Given the description of an element on the screen output the (x, y) to click on. 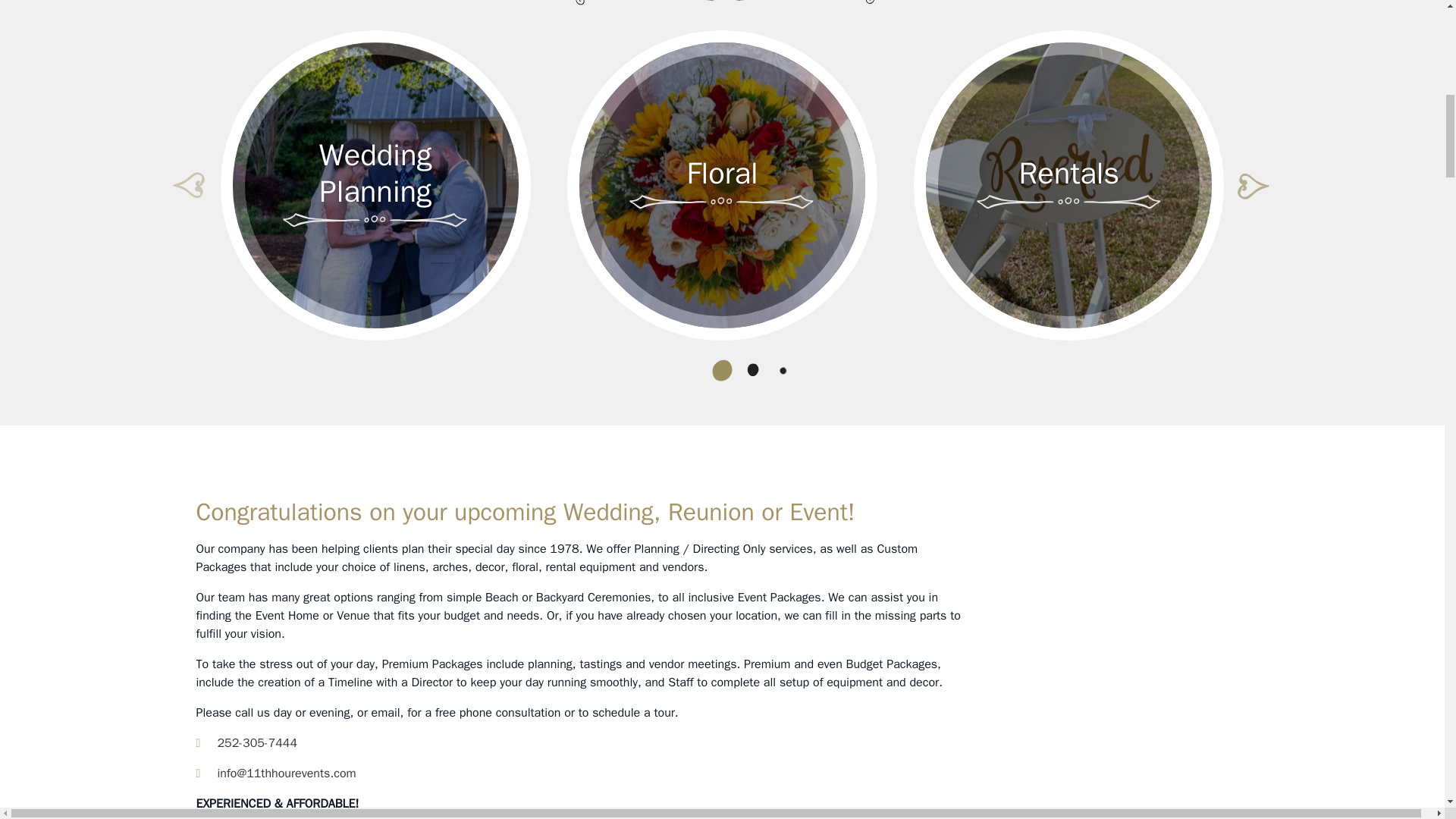
Floral (721, 172)
Rentals (1069, 172)
Wedding Planning (375, 172)
252-305-7444 (246, 743)
